Given the description of an element on the screen output the (x, y) to click on. 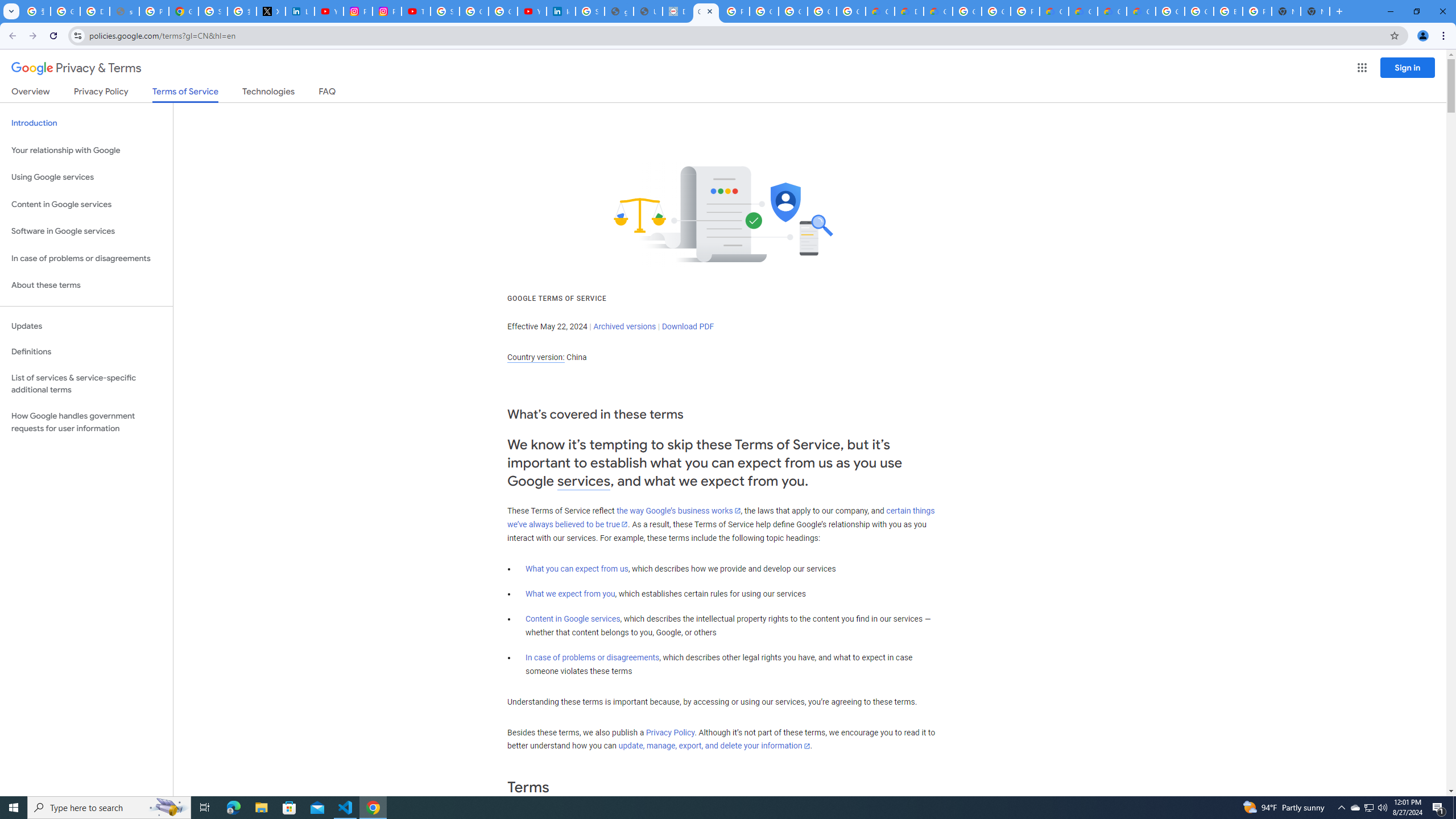
YouTube Content Monetization Policies - How YouTube Works (327, 11)
Software in Google services (86, 230)
Privacy Help Center - Policies Help (153, 11)
